Given the description of an element on the screen output the (x, y) to click on. 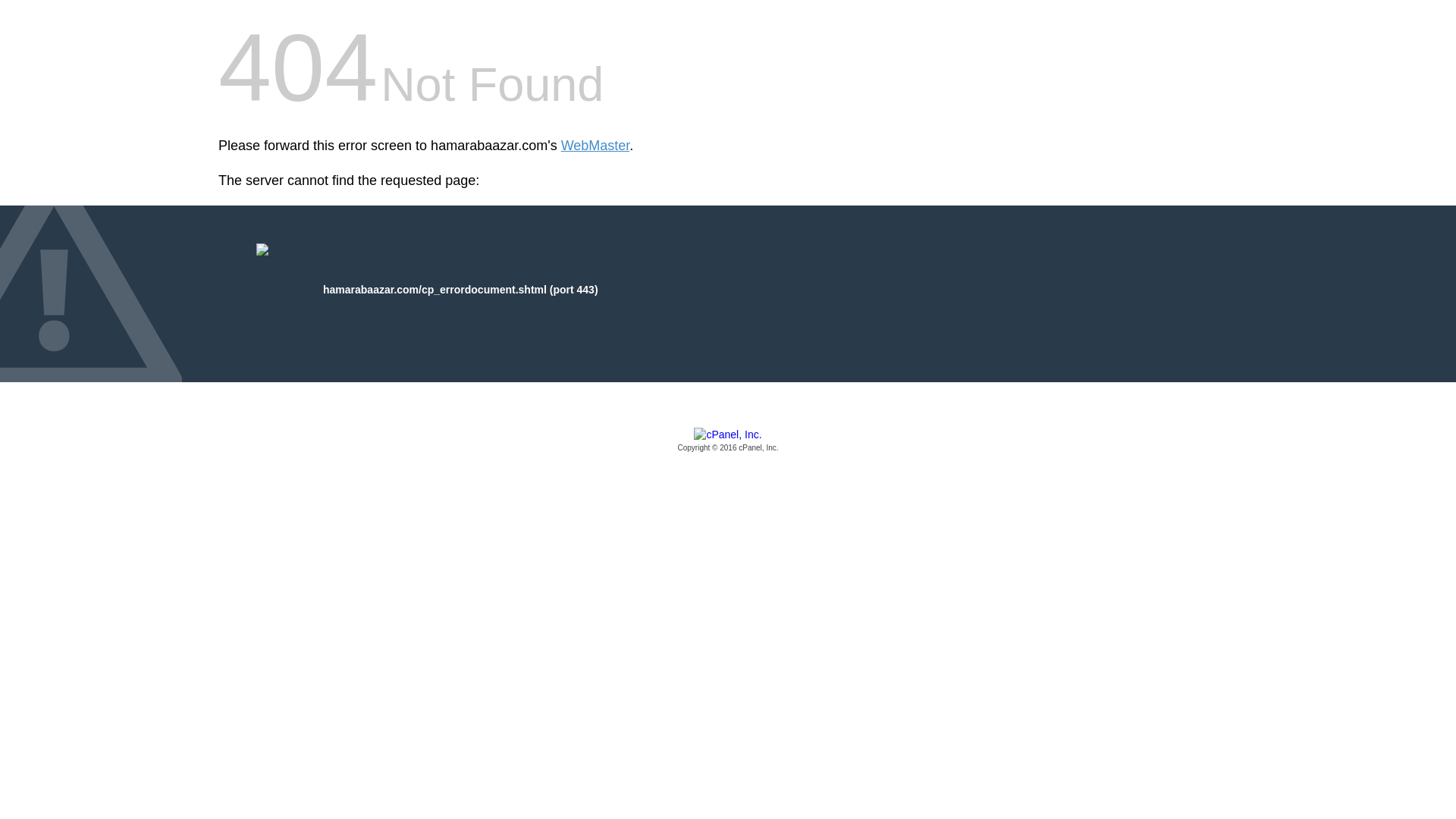
WebMaster (595, 145)
cPanel, Inc. (727, 440)
